Given the description of an element on the screen output the (x, y) to click on. 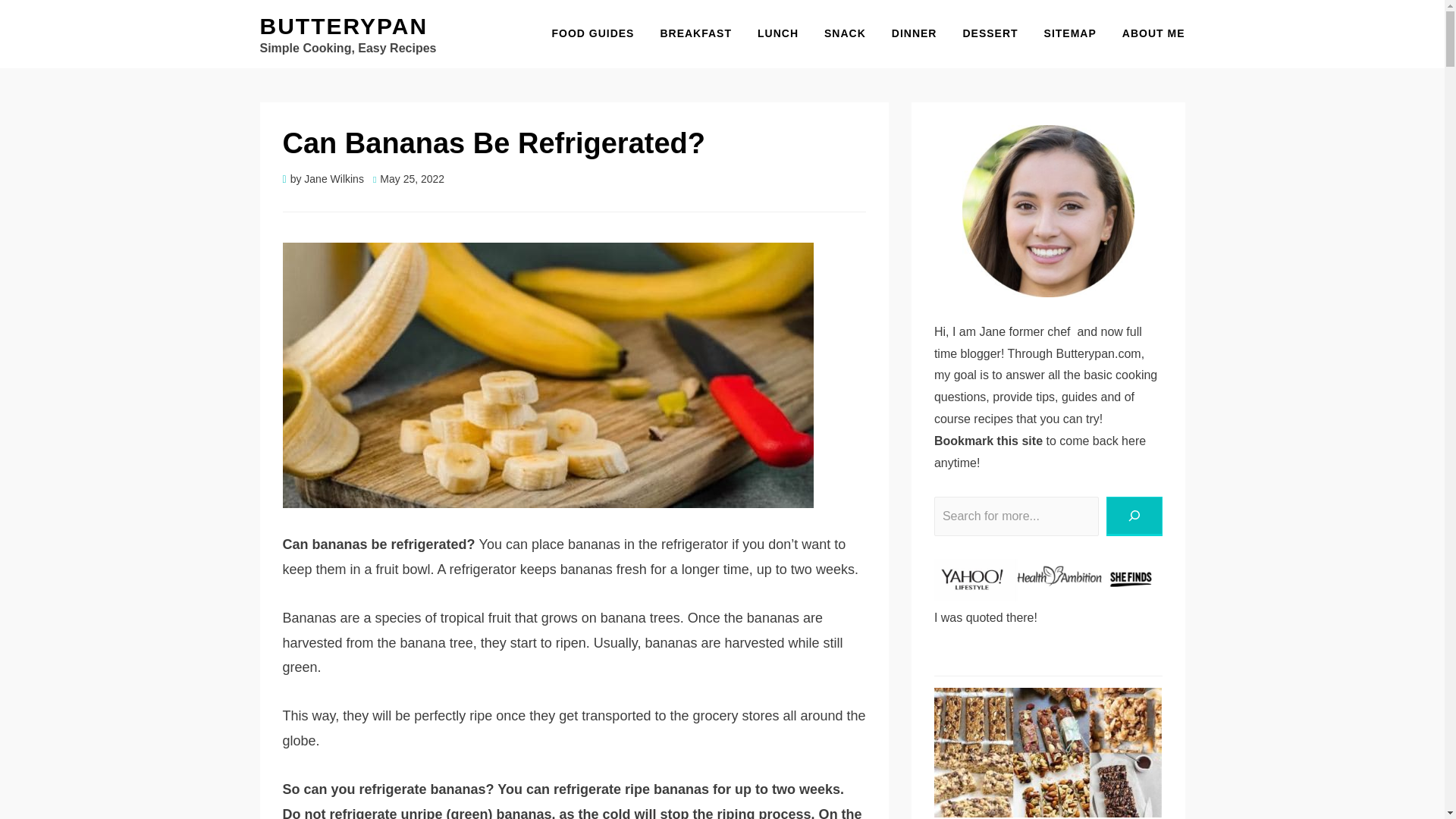
Jane Wilkins (334, 178)
SITEMAP (1069, 33)
ButteryPan (343, 25)
ABOUT ME (1147, 33)
FOOD GUIDES (592, 33)
BREAKFAST (695, 33)
BUTTERYPAN (343, 25)
LUNCH (777, 33)
DINNER (914, 33)
May 25, 2022 (408, 178)
